Given the description of an element on the screen output the (x, y) to click on. 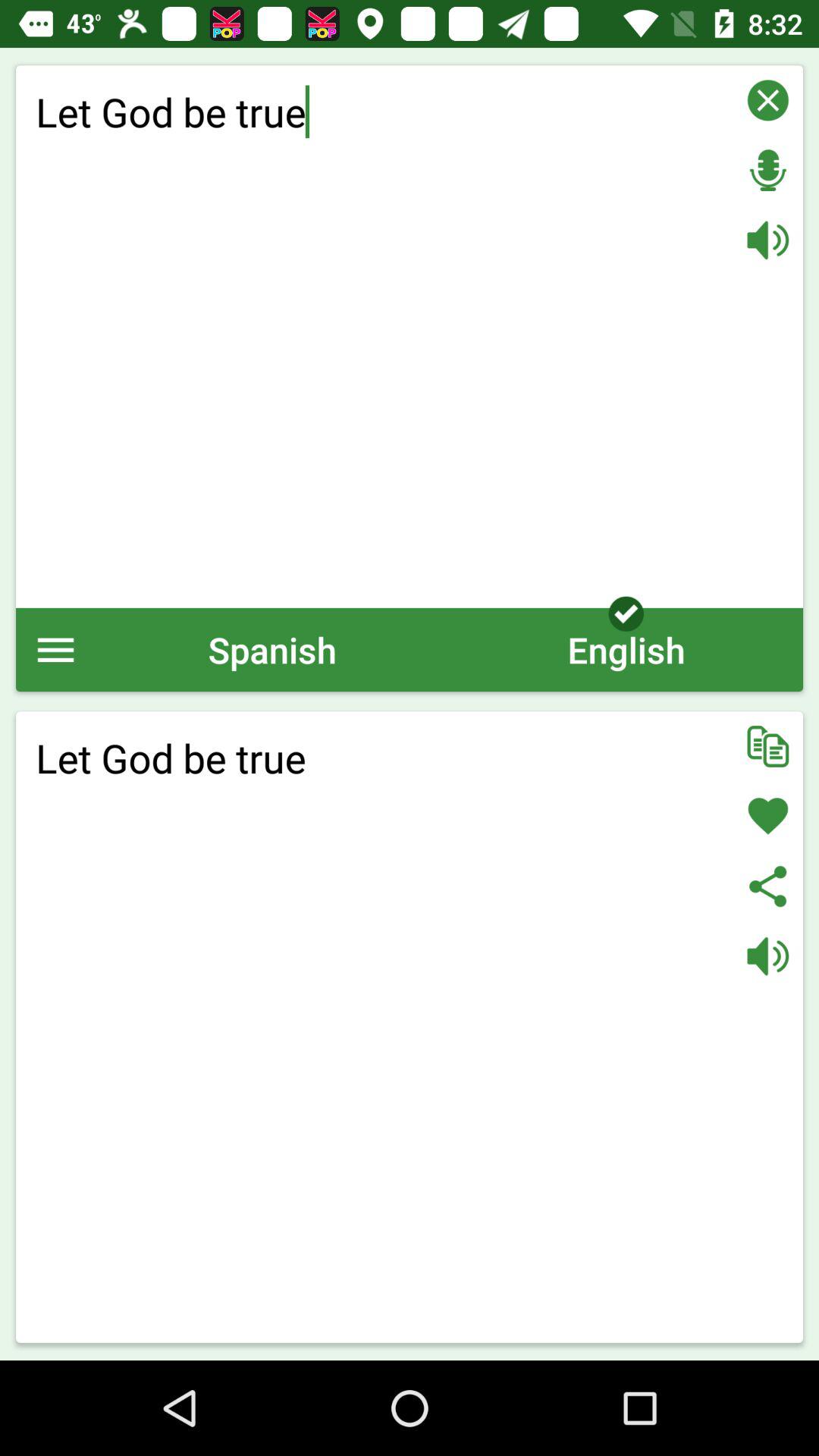
cancel or close (768, 100)
